Given the description of an element on the screen output the (x, y) to click on. 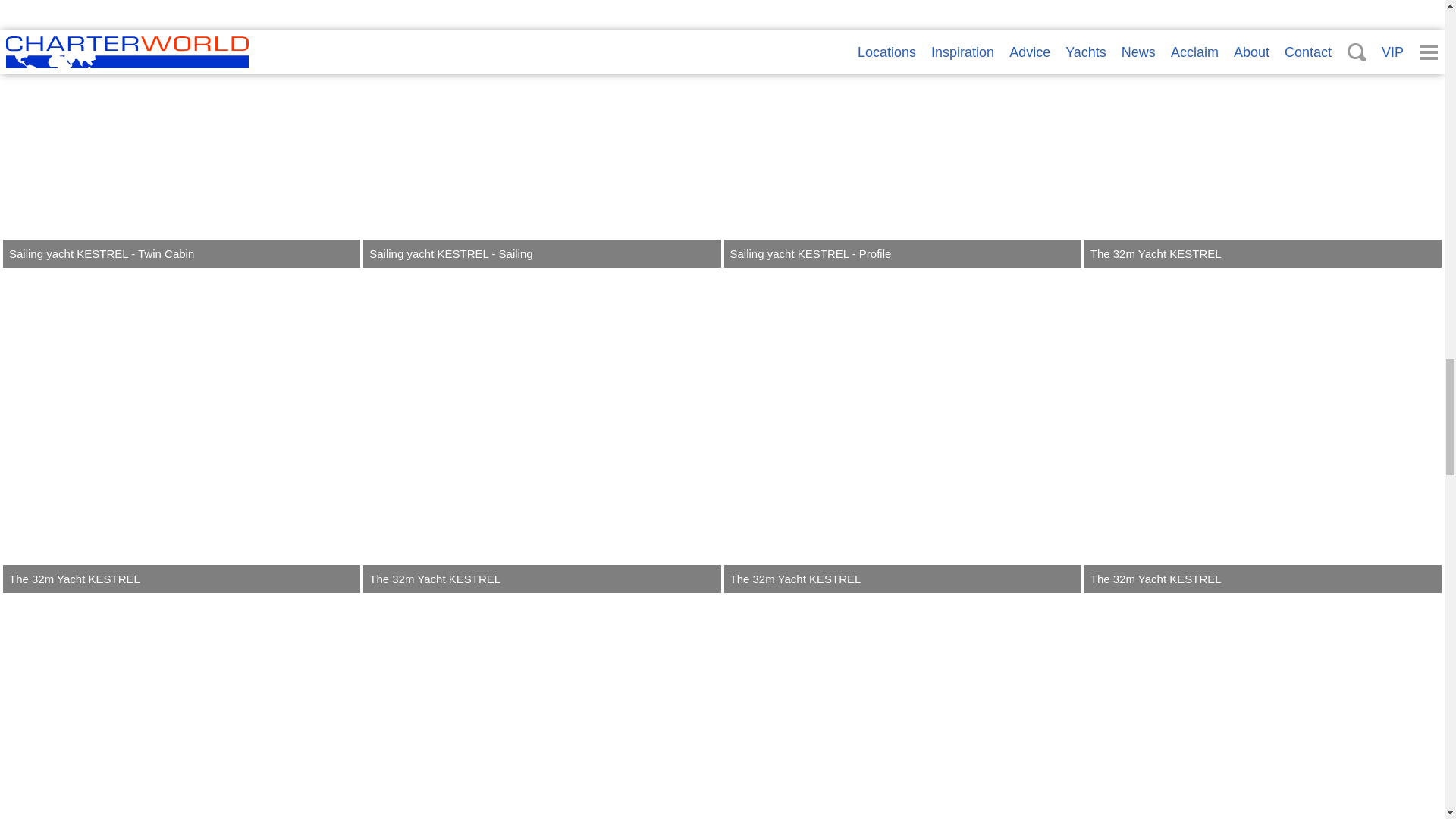
The 32m Yacht KESTREL (180, 431)
Sailing yacht KESTREL -  Twin Cabin (180, 133)
Sailing yacht KESTREL -  Sailing (541, 133)
The 32m Yacht KESTREL (541, 431)
The 32m Yacht KESTREL (180, 707)
The 32m Yacht KESTREL (1262, 431)
The 32m Yacht KESTREL (901, 431)
Sailing yacht KESTREL -  Profile (901, 133)
The 32m Yacht KESTREL (1262, 133)
